Given the description of an element on the screen output the (x, y) to click on. 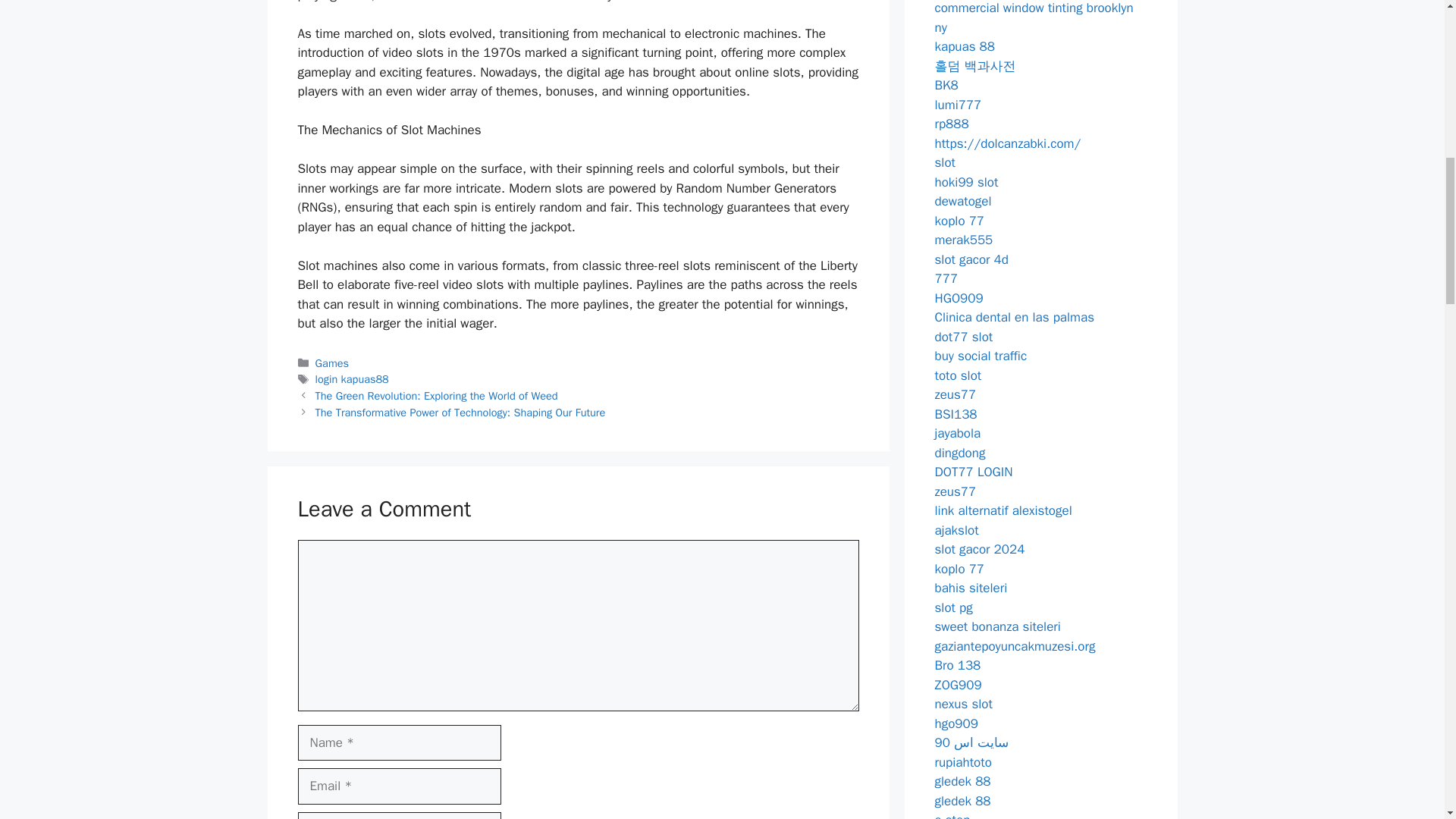
login kapuas88 (351, 378)
The Transformative Power of Technology: Shaping Our Future (460, 412)
The Green Revolution: Exploring the World of Weed (436, 395)
Games (332, 363)
